Given the description of an element on the screen output the (x, y) to click on. 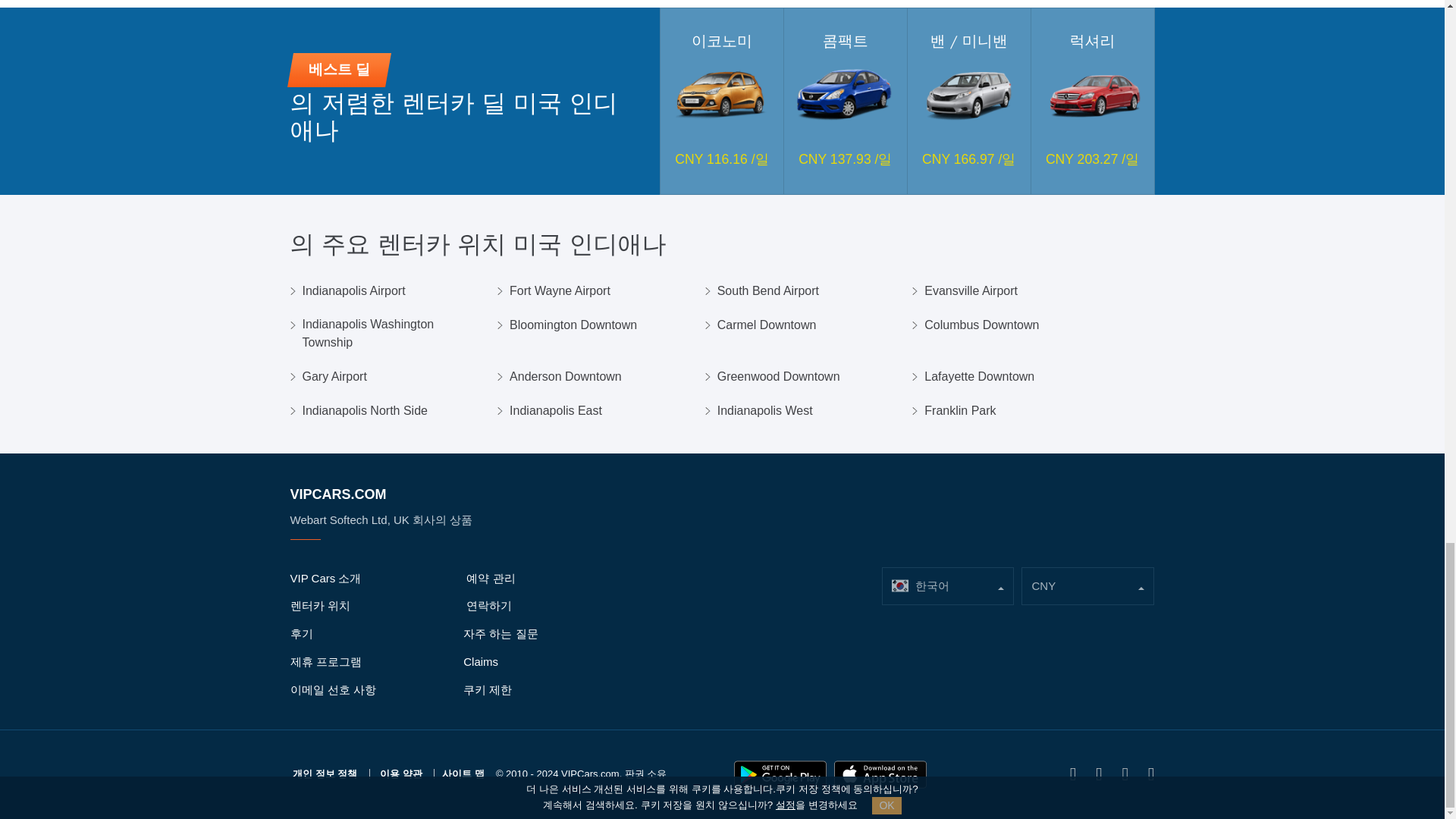
Greenwood Downtown (778, 376)
Evansville Airport (970, 290)
Gary Airport (333, 376)
Indianapolis West (764, 411)
South Bend Airport (767, 290)
Indianapolis North Side (363, 411)
Indianapolis Airport (352, 290)
Lafayette Downtown (978, 376)
Indianapolis East (555, 411)
Indianapolis Washington Township (392, 333)
Indianapolis Airport (352, 290)
Carmel Downtown (766, 325)
Franklin Park (959, 411)
Fort Wayne Airport (559, 290)
Anderson Downtown (565, 376)
